Given the description of an element on the screen output the (x, y) to click on. 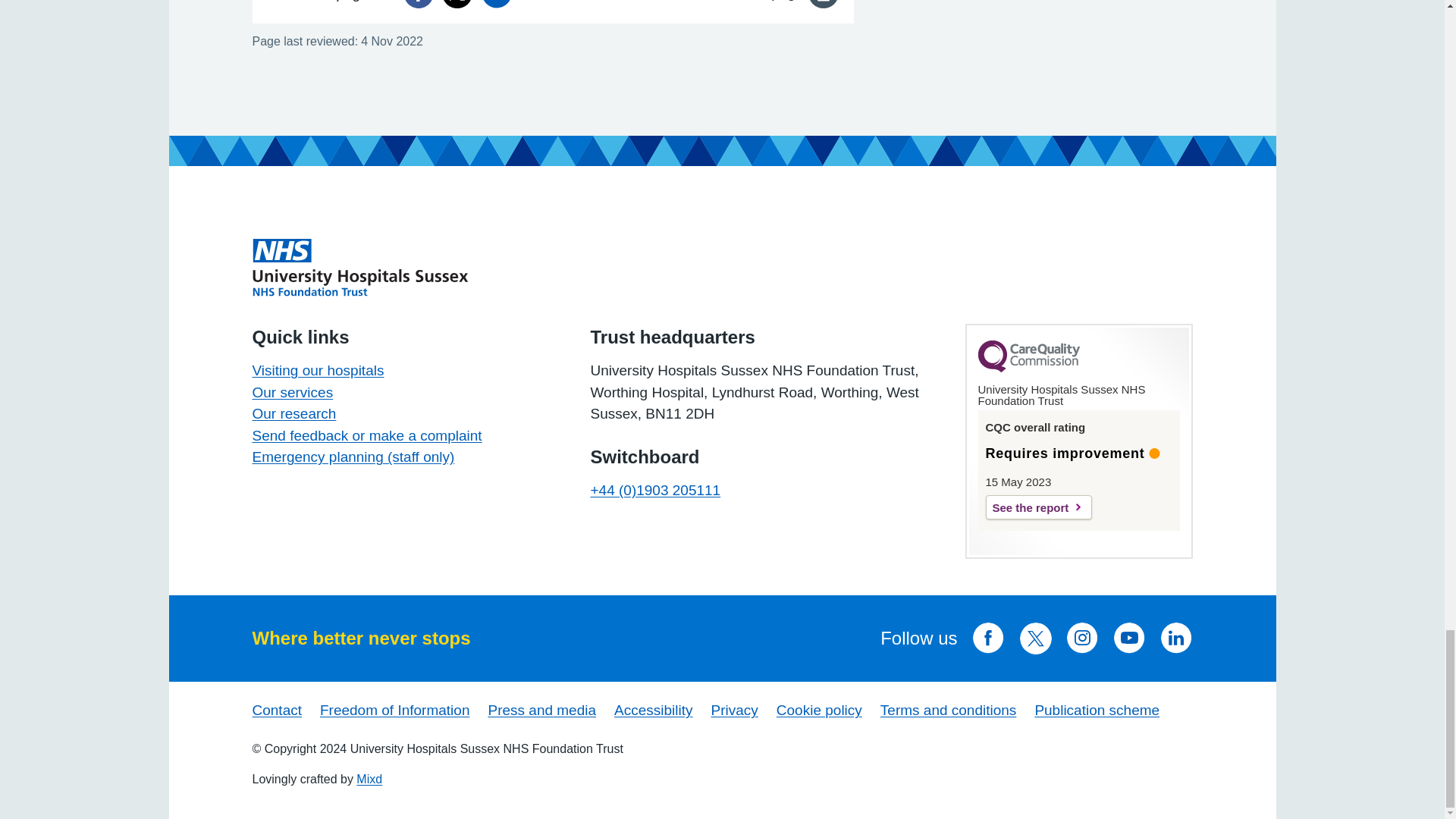
Share on Facebook (418, 4)
CQC Logo (1029, 368)
Share via Email (496, 4)
Excellence as our standard (359, 267)
Share on Twitter (456, 4)
